Given the description of an element on the screen output the (x, y) to click on. 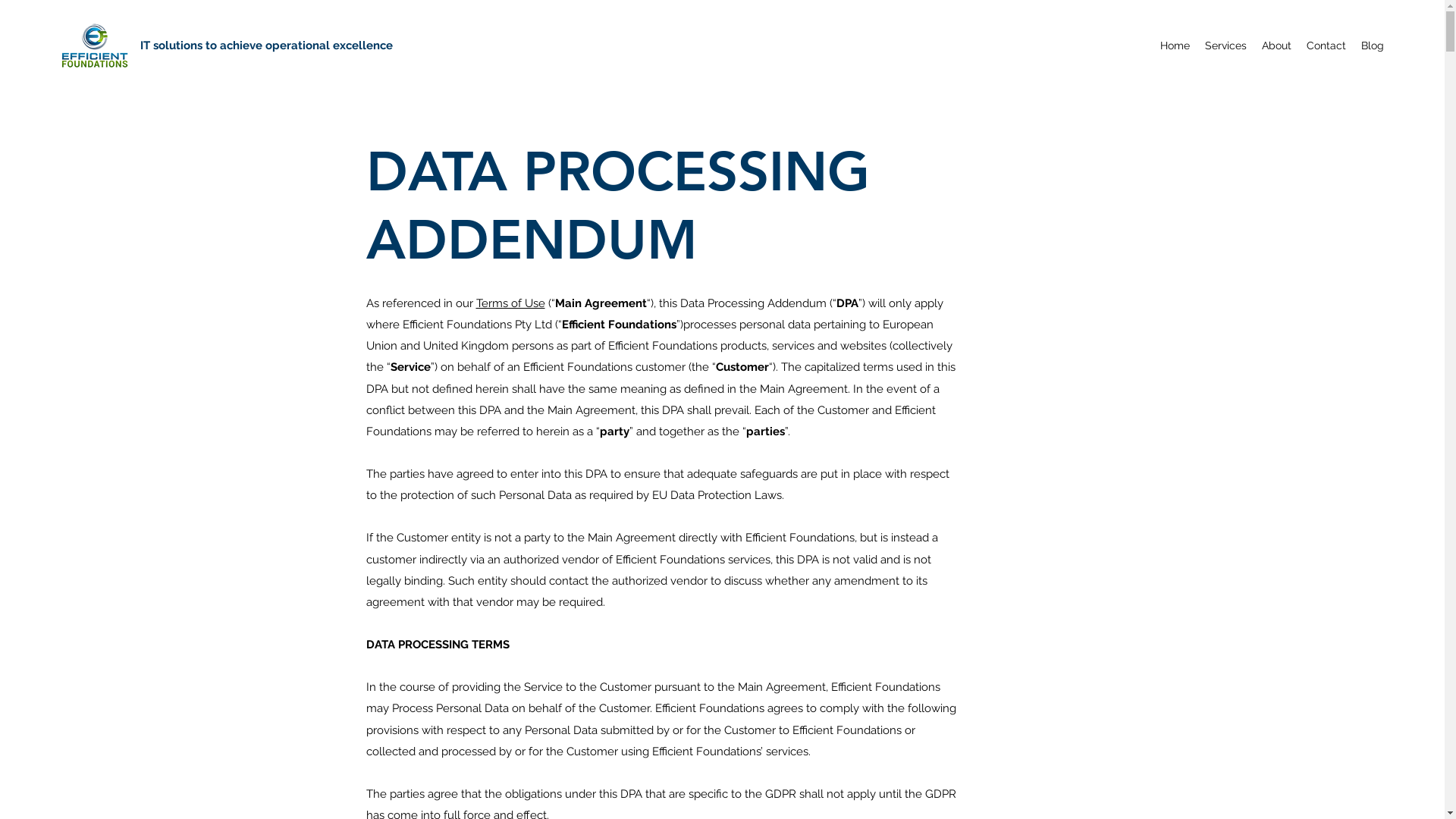
Services Element type: text (1225, 45)
About Element type: text (1276, 45)
Contact Element type: text (1326, 45)
Terms of Use Element type: text (510, 303)
Home Element type: text (1174, 45)
Blog Element type: text (1372, 45)
